Given the description of an element on the screen output the (x, y) to click on. 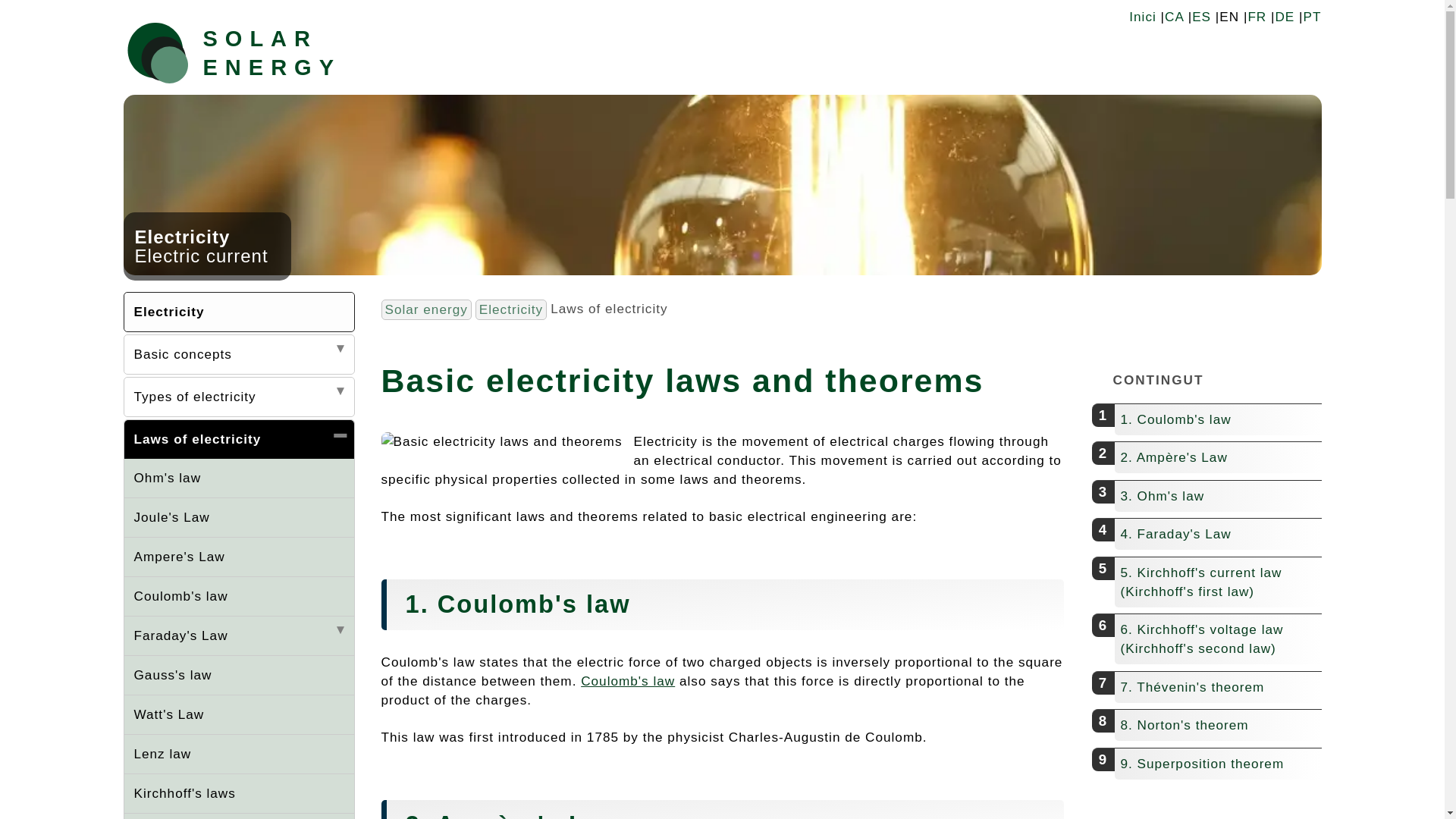
CA (1173, 16)
Electricity (238, 311)
ES (1201, 16)
Basic concepts (238, 353)
PT (1312, 16)
DE (1284, 16)
FR (1256, 16)
Inici (1142, 16)
SOLAR ENERGY (282, 51)
